Given the description of an element on the screen output the (x, y) to click on. 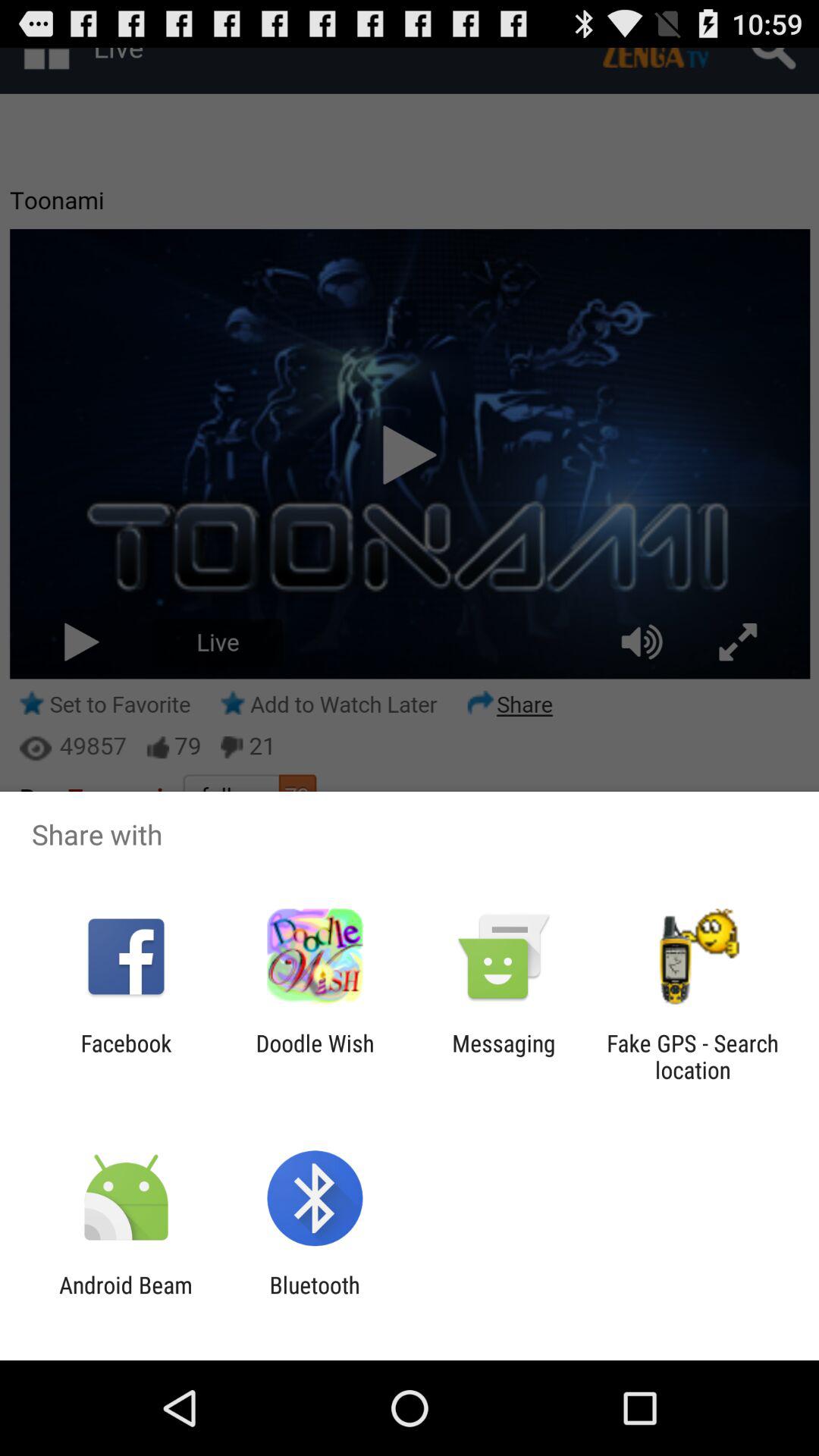
turn on bluetooth (314, 1298)
